Given the description of an element on the screen output the (x, y) to click on. 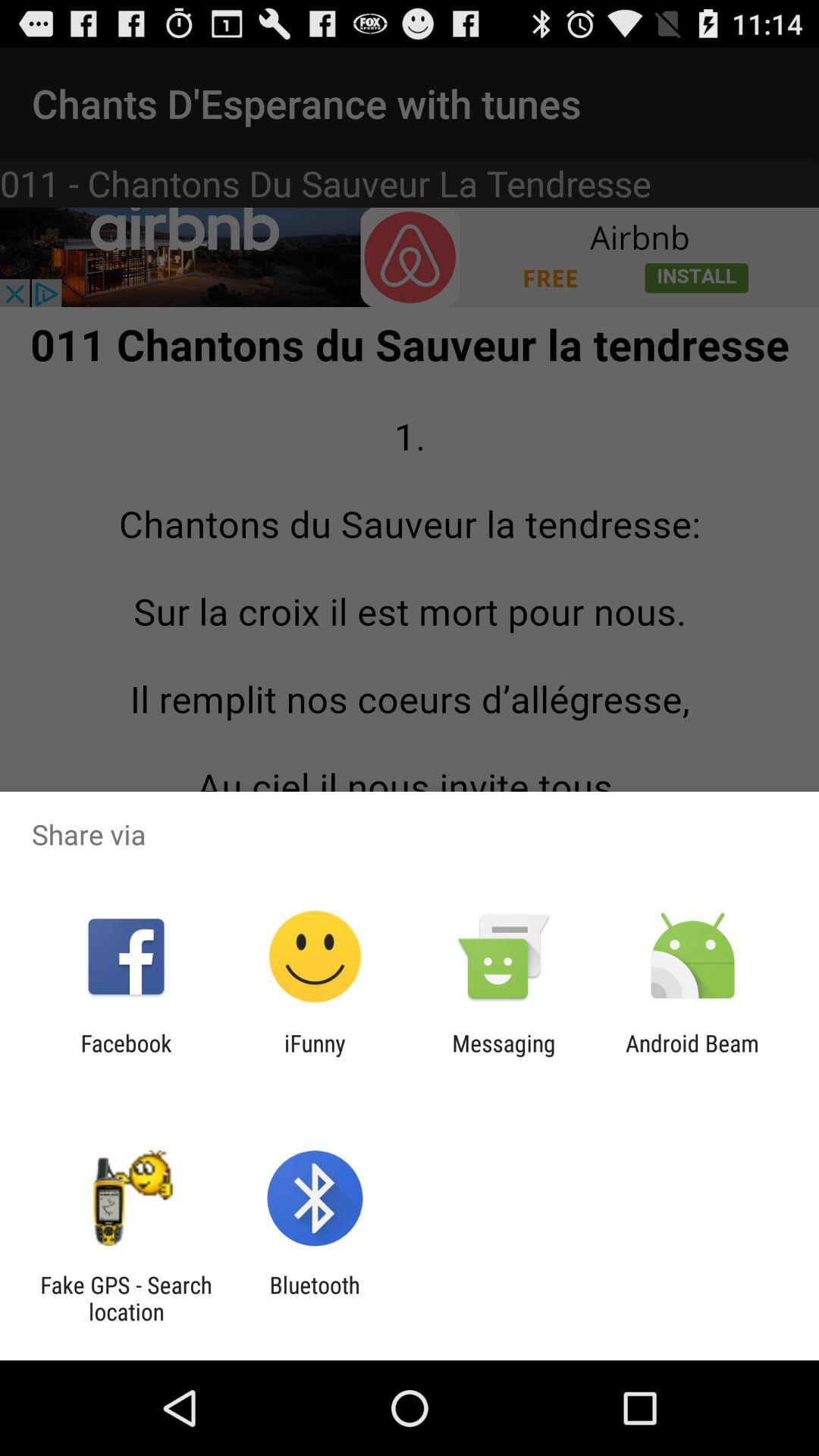
tap item to the right of ifunny item (503, 1056)
